Given the description of an element on the screen output the (x, y) to click on. 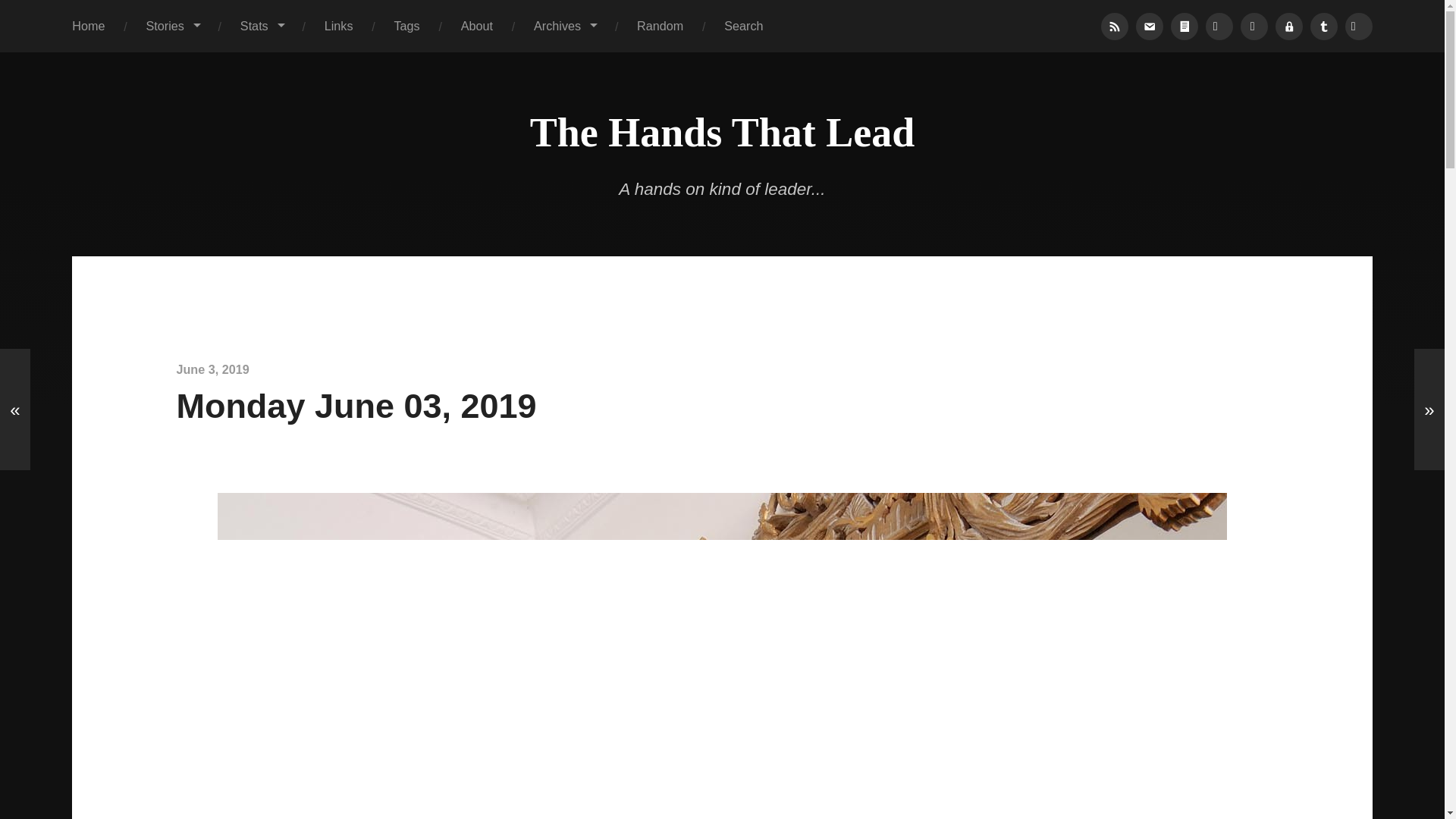
Home (87, 26)
Random (659, 26)
Search (743, 26)
About (477, 26)
Stories (172, 26)
Tags (407, 26)
Links (339, 26)
Stats (261, 26)
Archives (564, 26)
